Given the description of an element on the screen output the (x, y) to click on. 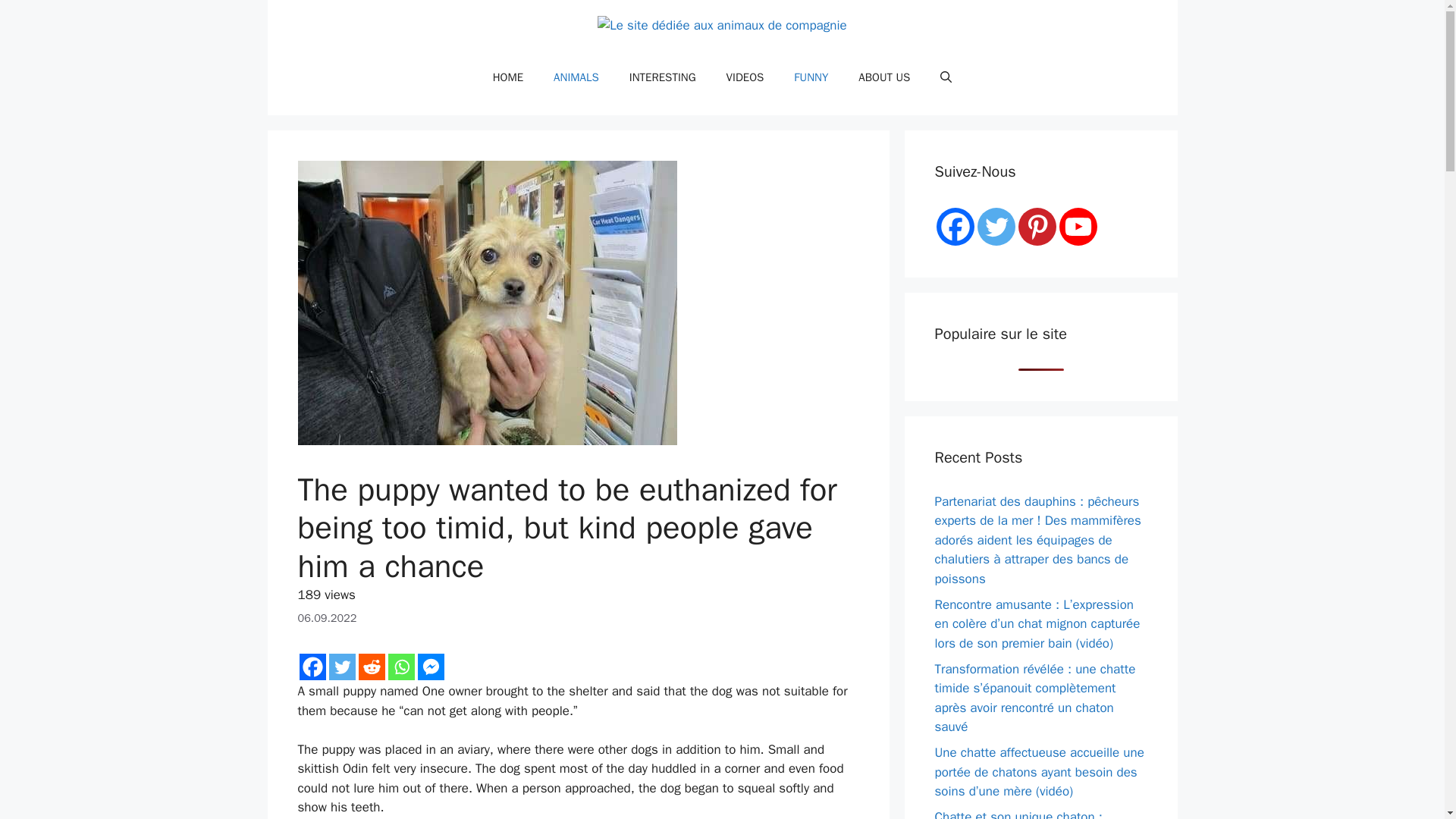
Twitter (342, 666)
Whatsapp (401, 666)
Pinterest (1036, 226)
Twitter (995, 226)
ANIMALS (576, 76)
Youtube Channel (1077, 226)
VIDEOS (744, 76)
ABOUT US (883, 76)
HOME (507, 76)
INTERESTING (662, 76)
